Given the description of an element on the screen output the (x, y) to click on. 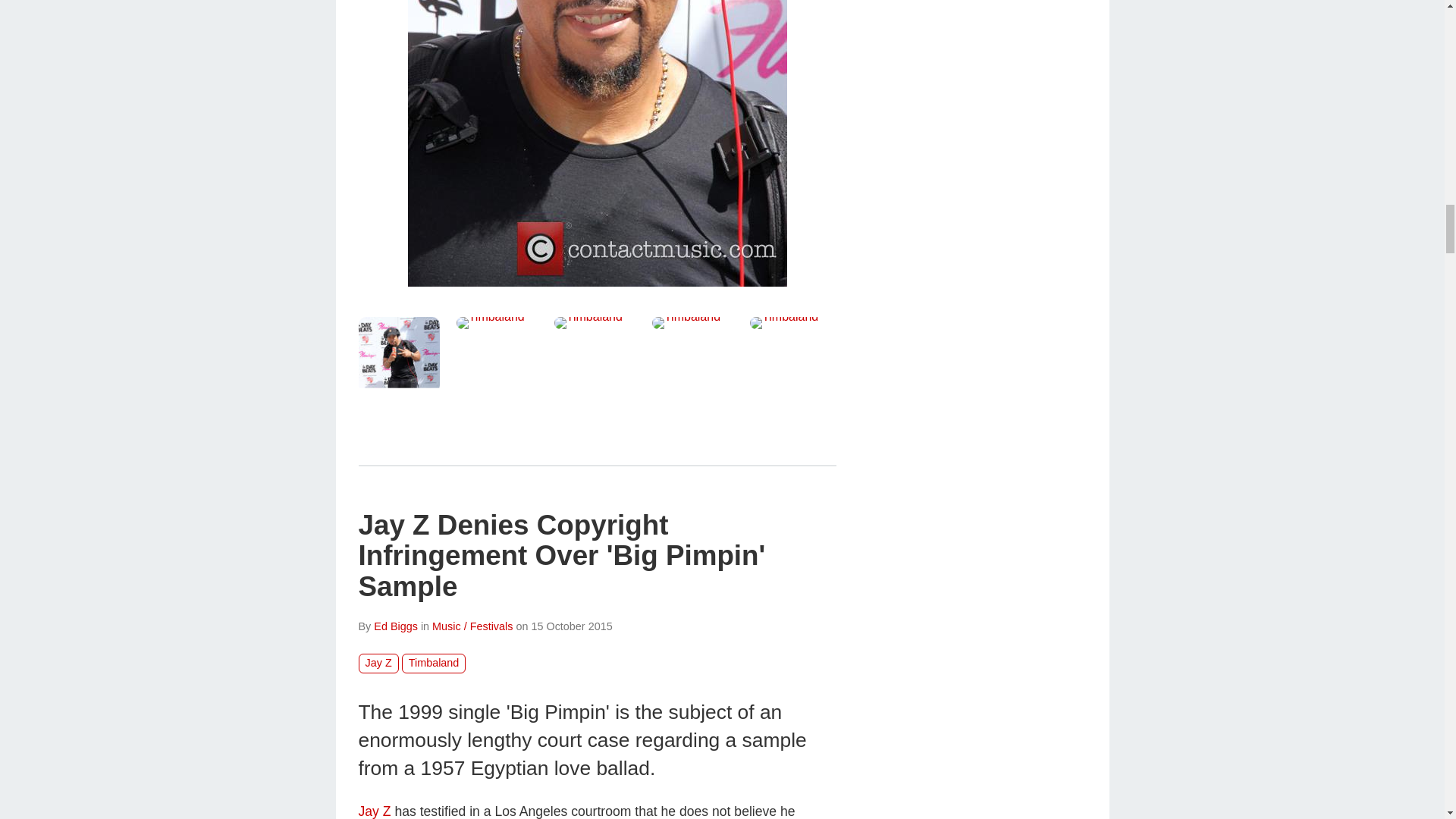
Timbaland (497, 322)
Timbaland (597, 143)
Timbaland (692, 322)
Timbaland (594, 322)
Timbaland (790, 322)
